Given the description of an element on the screen output the (x, y) to click on. 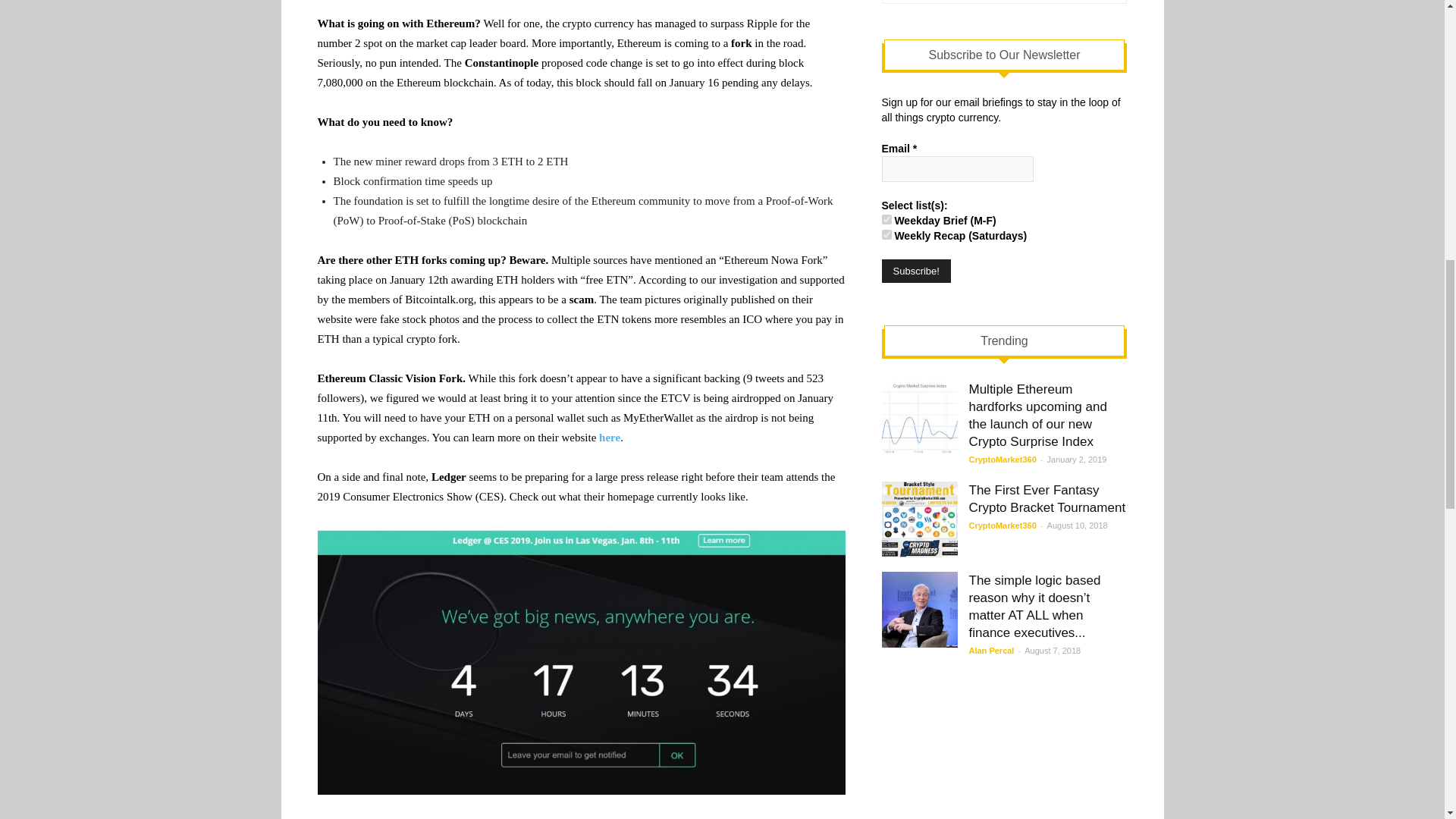
4 (885, 219)
Subscribe! (915, 270)
5 (885, 234)
